Given the description of an element on the screen output the (x, y) to click on. 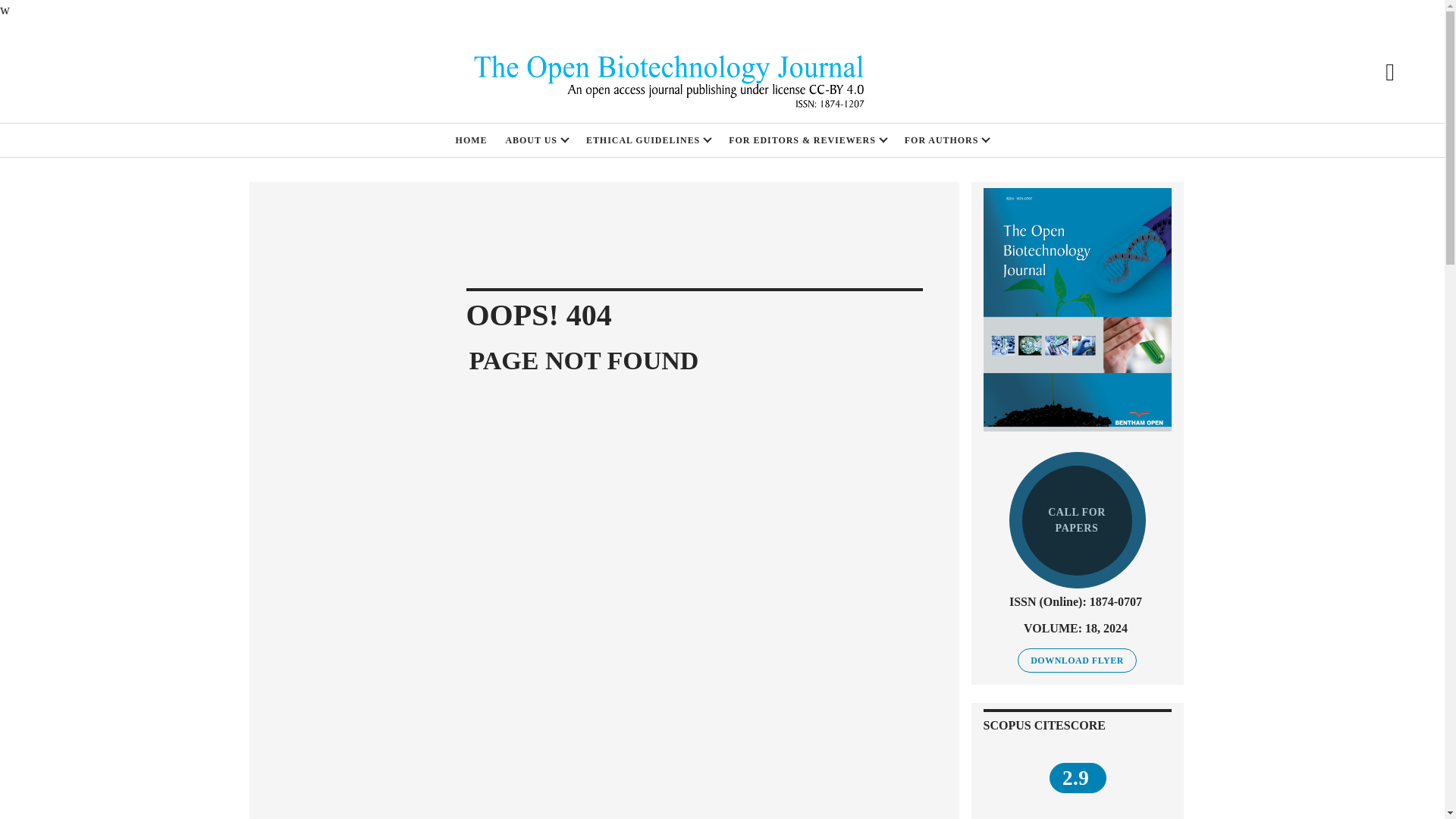
Search (1389, 71)
